Given the description of an element on the screen output the (x, y) to click on. 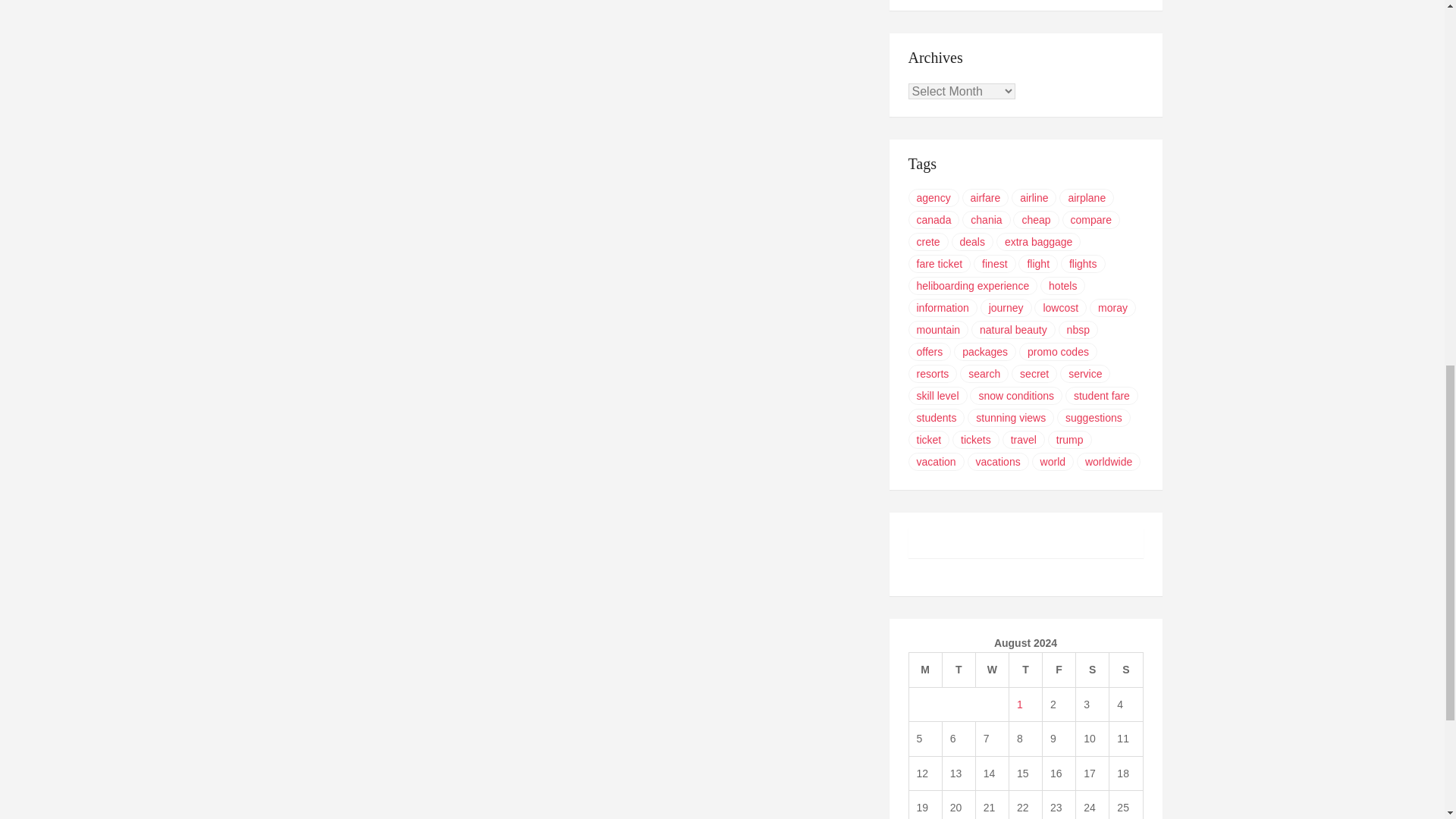
Friday (1058, 669)
Monday (925, 669)
Wednesday (992, 669)
Saturday (1092, 669)
Sunday (1125, 669)
Tuesday (958, 669)
Thursday (1025, 669)
